Given the description of an element on the screen output the (x, y) to click on. 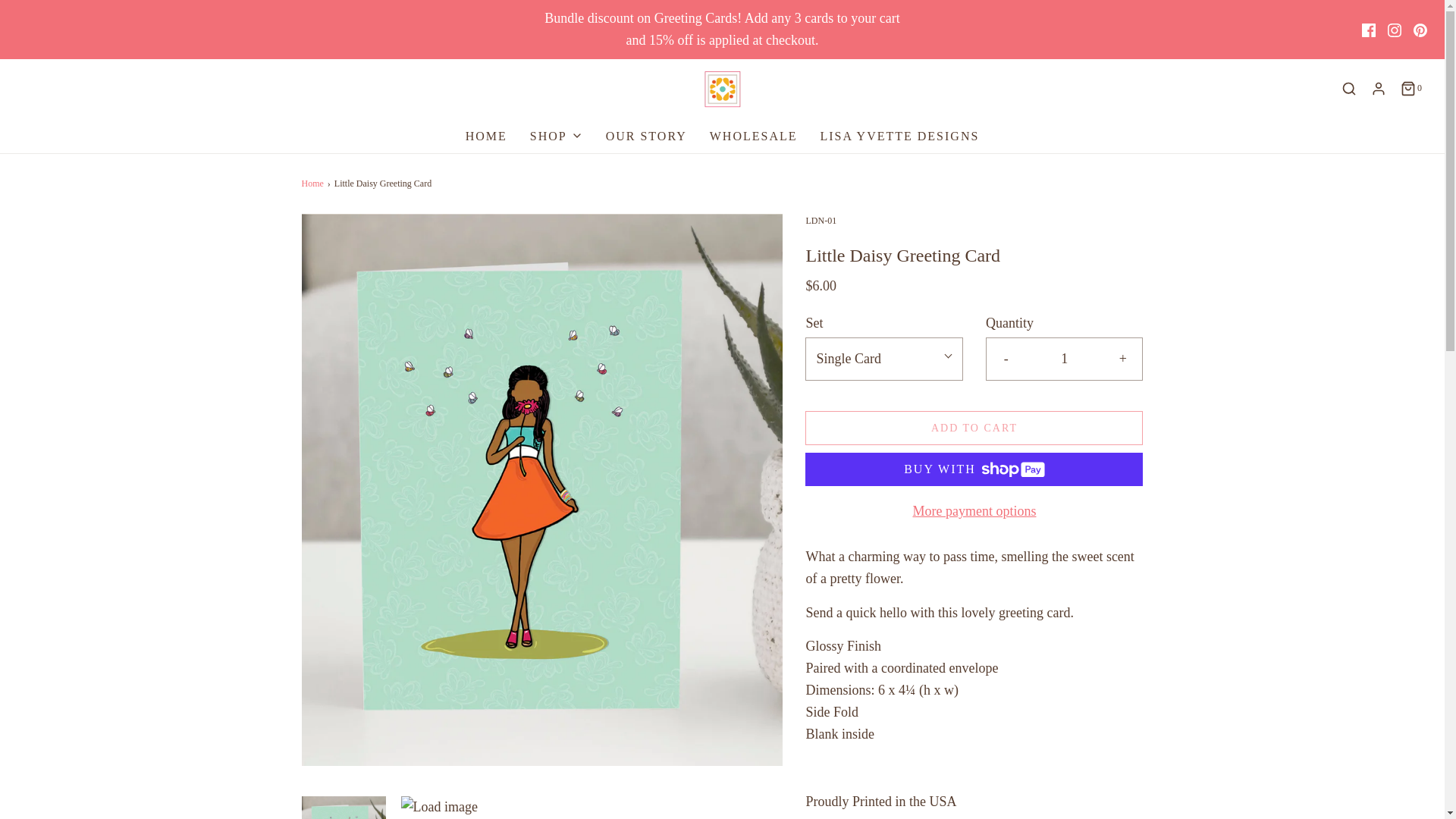
Cart (1410, 88)
Home (314, 183)
Log in (1378, 88)
SHOP (556, 135)
0 (1410, 88)
Pinterest icon (1419, 29)
ADD TO CART (973, 428)
WHOLESALE (753, 135)
1 (1064, 359)
Search (1423, 32)
OUR STORY (646, 135)
Pinterest icon (1419, 29)
- (1006, 359)
Back to the frontpage (314, 183)
Facebook icon (1368, 29)
